Given the description of an element on the screen output the (x, y) to click on. 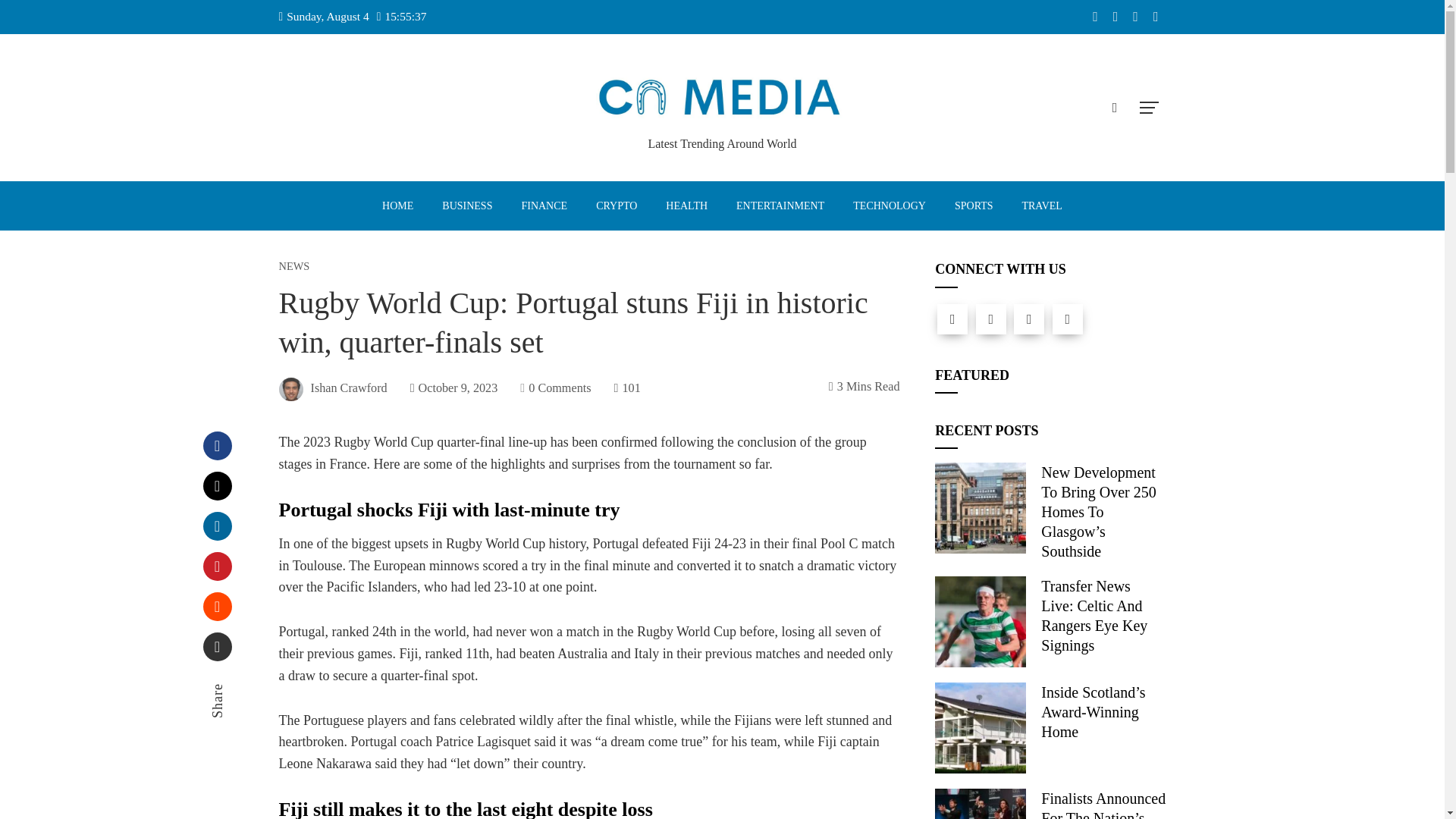
Twitter (990, 318)
ENTERTAINMENT (779, 205)
Instagram (1028, 318)
NEWS (294, 266)
TRAVEL (1041, 205)
BUSINESS (466, 205)
FINANCE (543, 205)
HEALTH (686, 205)
Stumbleupon (217, 606)
LinkedIn (217, 525)
SPORTS (974, 205)
Facebook (217, 445)
CRYPTO (616, 205)
Pinterest (217, 566)
Twitter (217, 485)
